Given the description of an element on the screen output the (x, y) to click on. 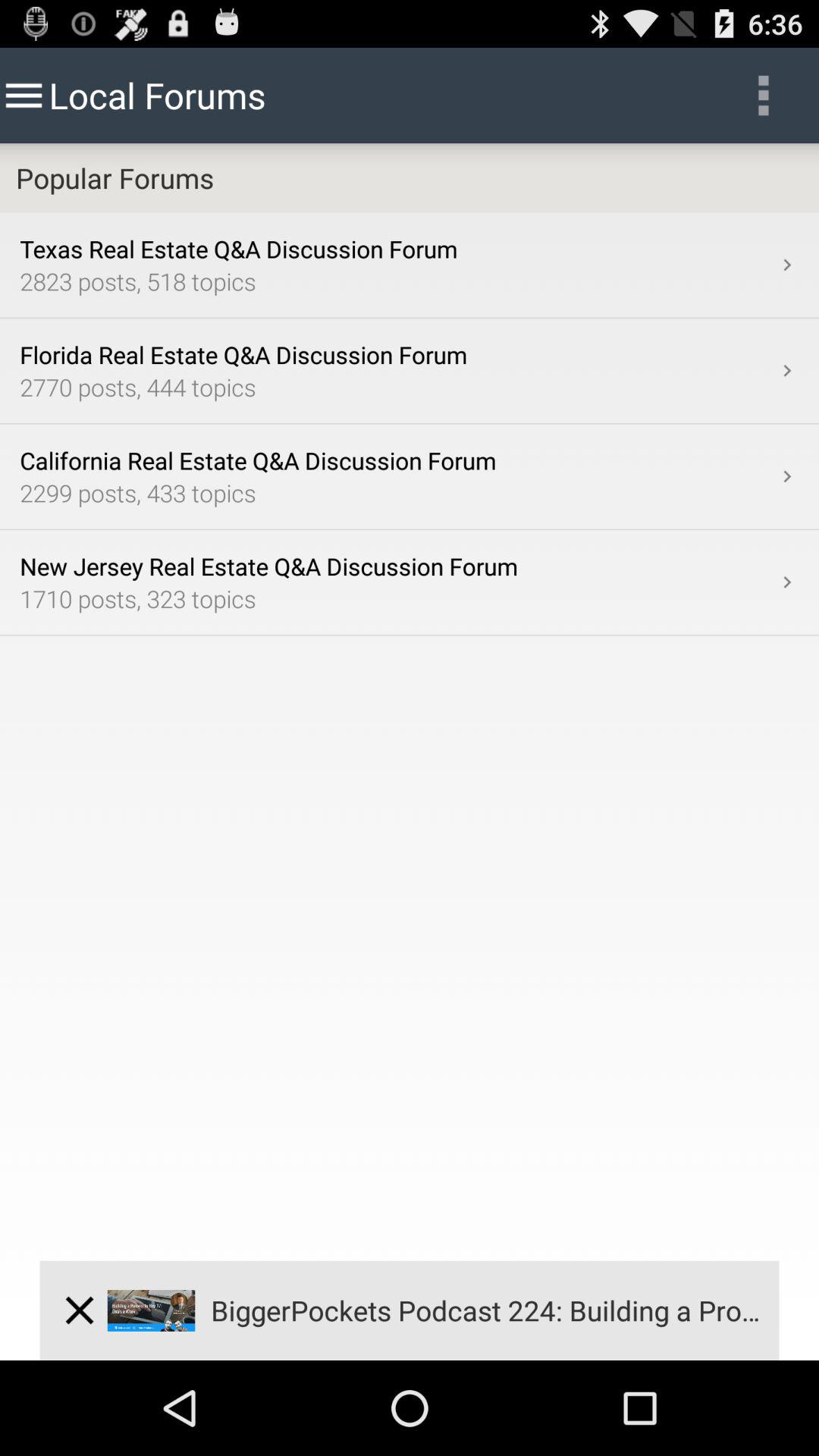
jump to new jersey real icon (397, 565)
